Given the description of an element on the screen output the (x, y) to click on. 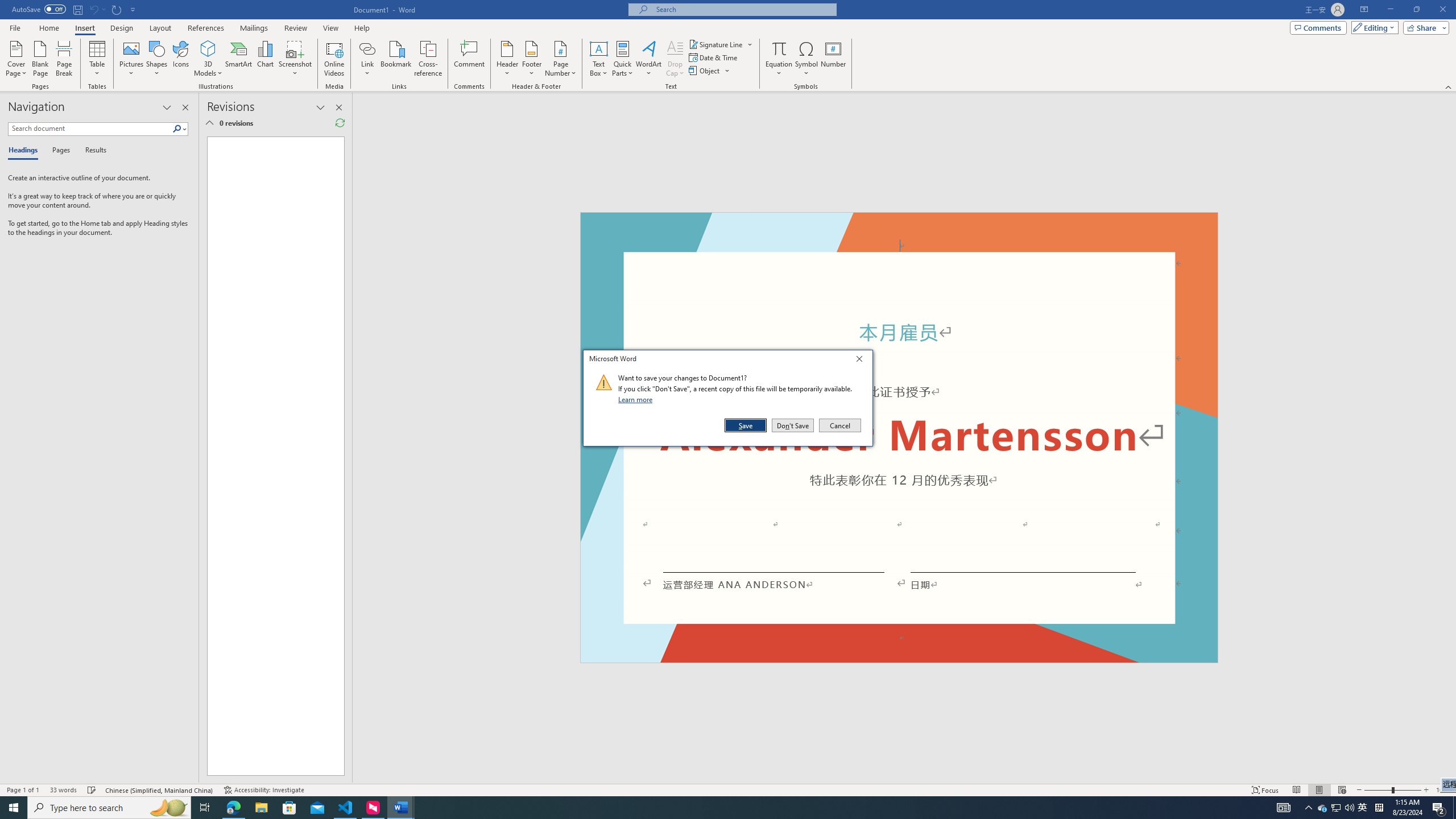
Review (295, 28)
Can't Undo (96, 9)
Quick Access Toolbar (74, 9)
Repeat Doc Close (117, 9)
Comment (469, 58)
Mailings (253, 28)
Home (48, 28)
Class: MsoCommandBar (728, 789)
Cross-reference... (428, 58)
Microsoft search (1362, 807)
Zoom In (742, 9)
Object... (1426, 790)
